Given the description of an element on the screen output the (x, y) to click on. 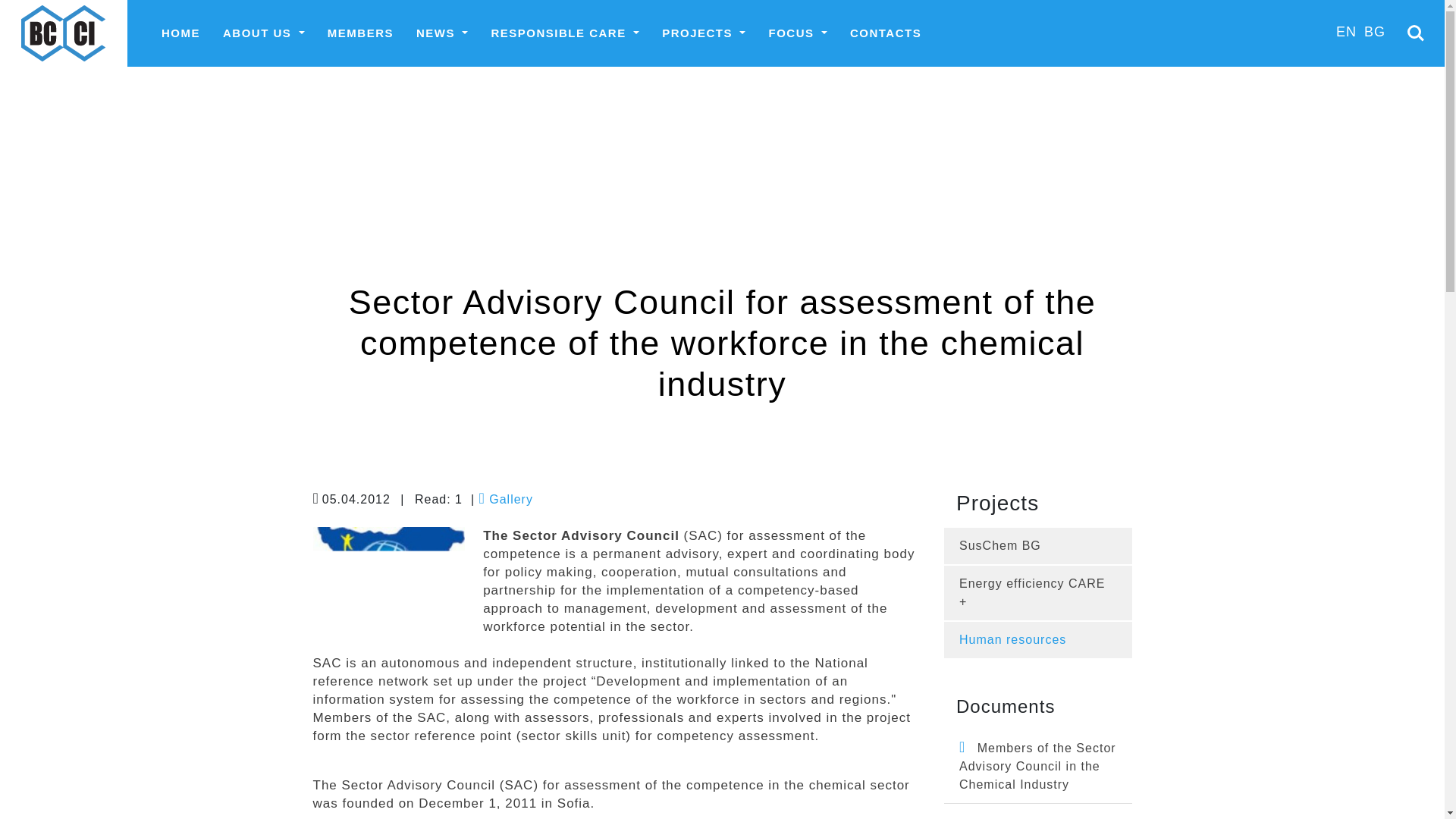
RESPONSIBLE CARE (564, 33)
NEWS (441, 33)
SusChem BG (1000, 545)
FOCUS (797, 33)
PROJECTS (703, 33)
Human resources (1012, 639)
HOME (180, 33)
CONTACTS (885, 33)
Gallery (505, 499)
